Given the description of an element on the screen output the (x, y) to click on. 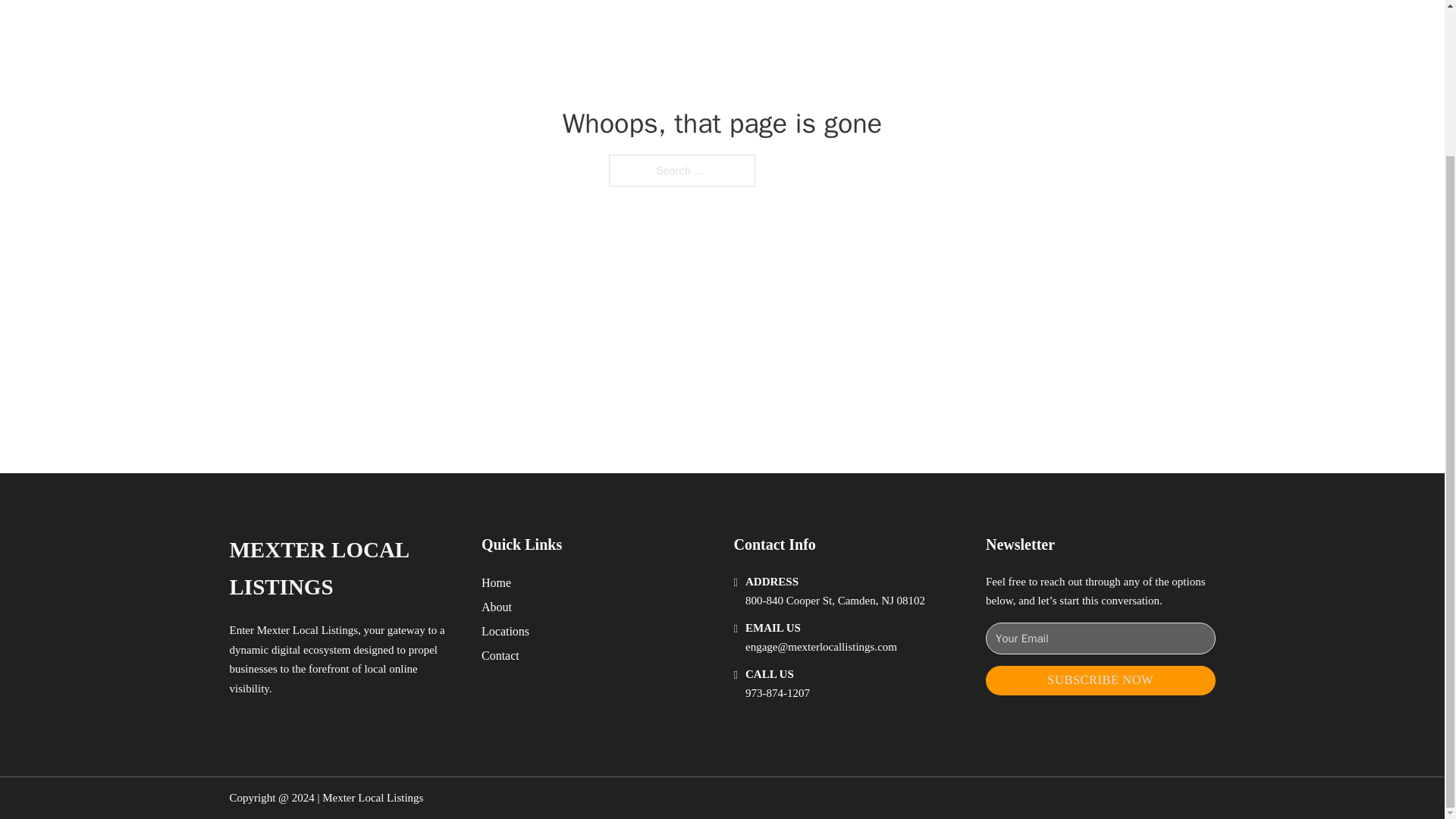
Home (496, 582)
About (496, 607)
973-874-1207 (777, 693)
Locations (505, 630)
Contact (500, 655)
MEXTER LOCAL LISTINGS (343, 568)
SUBSCRIBE NOW (1100, 680)
